Given the description of an element on the screen output the (x, y) to click on. 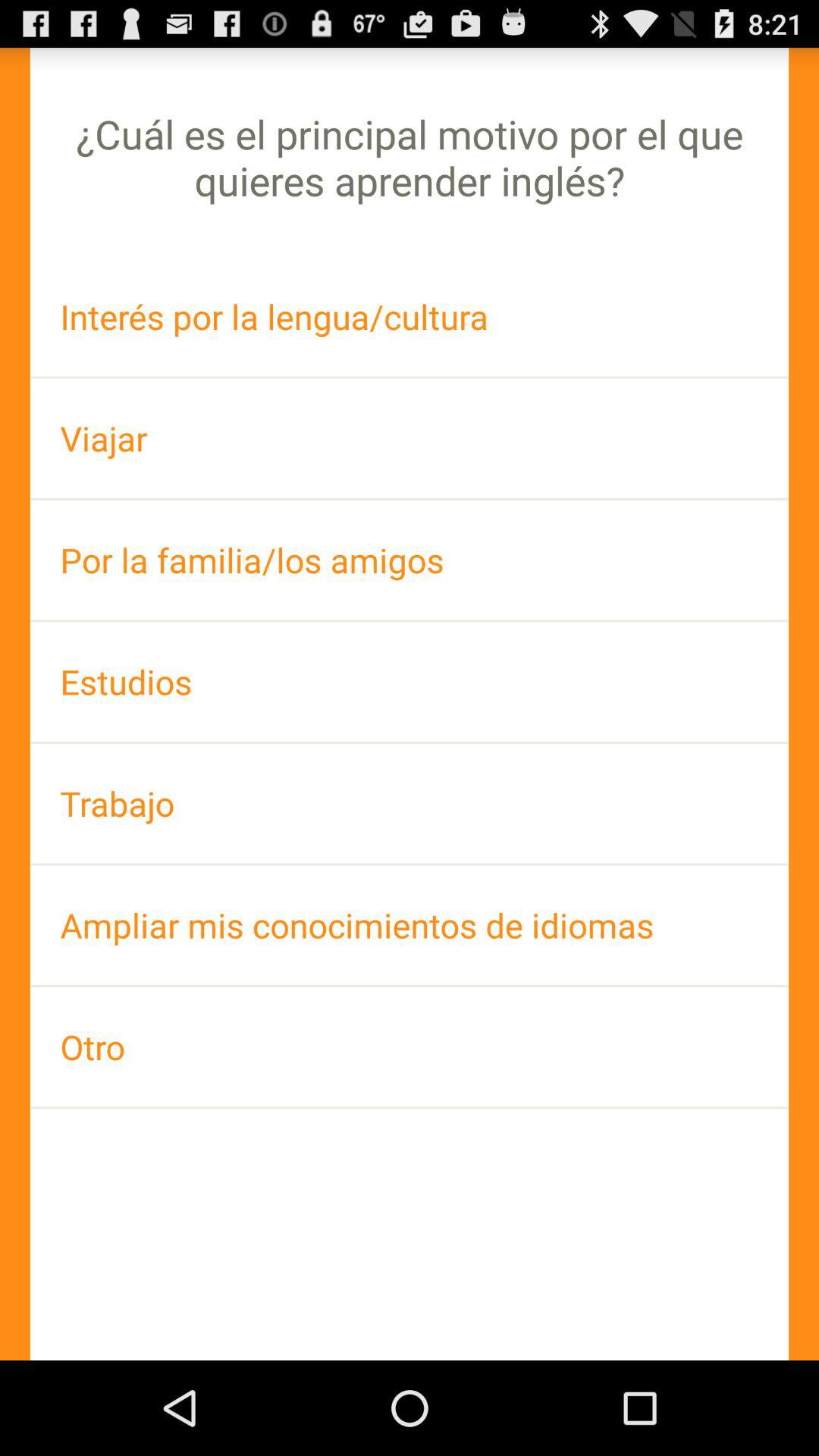
launch otro icon (409, 1046)
